Given the description of an element on the screen output the (x, y) to click on. 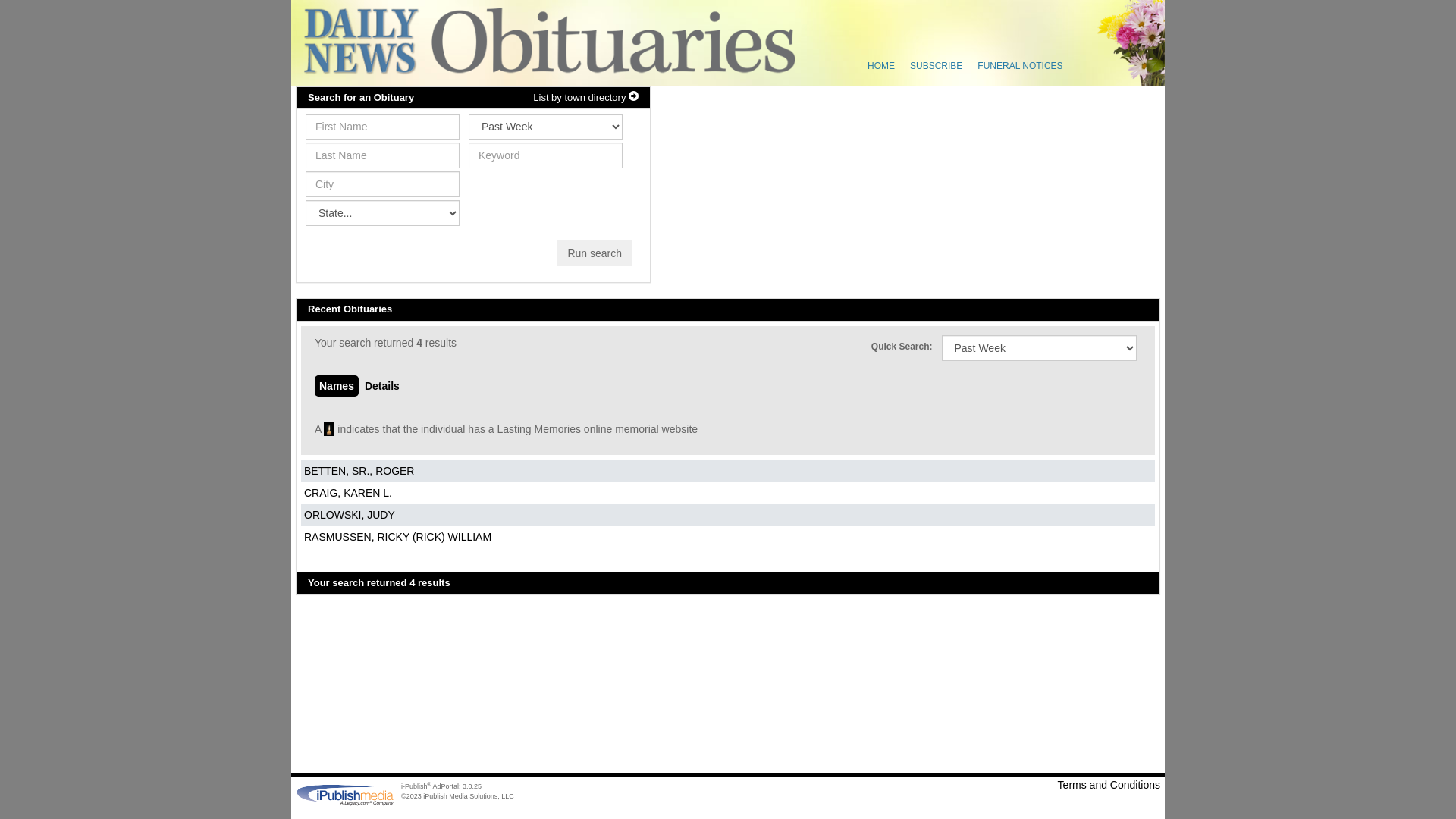
Terms and Conditions Element type: text (946, 784)
HOME Element type: text (880, 65)
CRAIG, KAREN L.  Element type: text (349, 492)
Names Element type: text (336, 385)
List by town directory Element type: text (585, 98)
Adportal Element type: text (802, 53)
Run search Element type: text (594, 253)
SUBSCRIBE Element type: text (935, 65)
FUNERAL NOTICES Element type: text (1019, 65)
RASMUSSEN, RICKY (RICK) WILLIAM  Element type: text (399, 536)
Details Element type: text (382, 385)
BETTEN, SR., ROGER  Element type: text (360, 470)
ORLOWSKI, JUDY  Element type: text (350, 514)
